Given the description of an element on the screen output the (x, y) to click on. 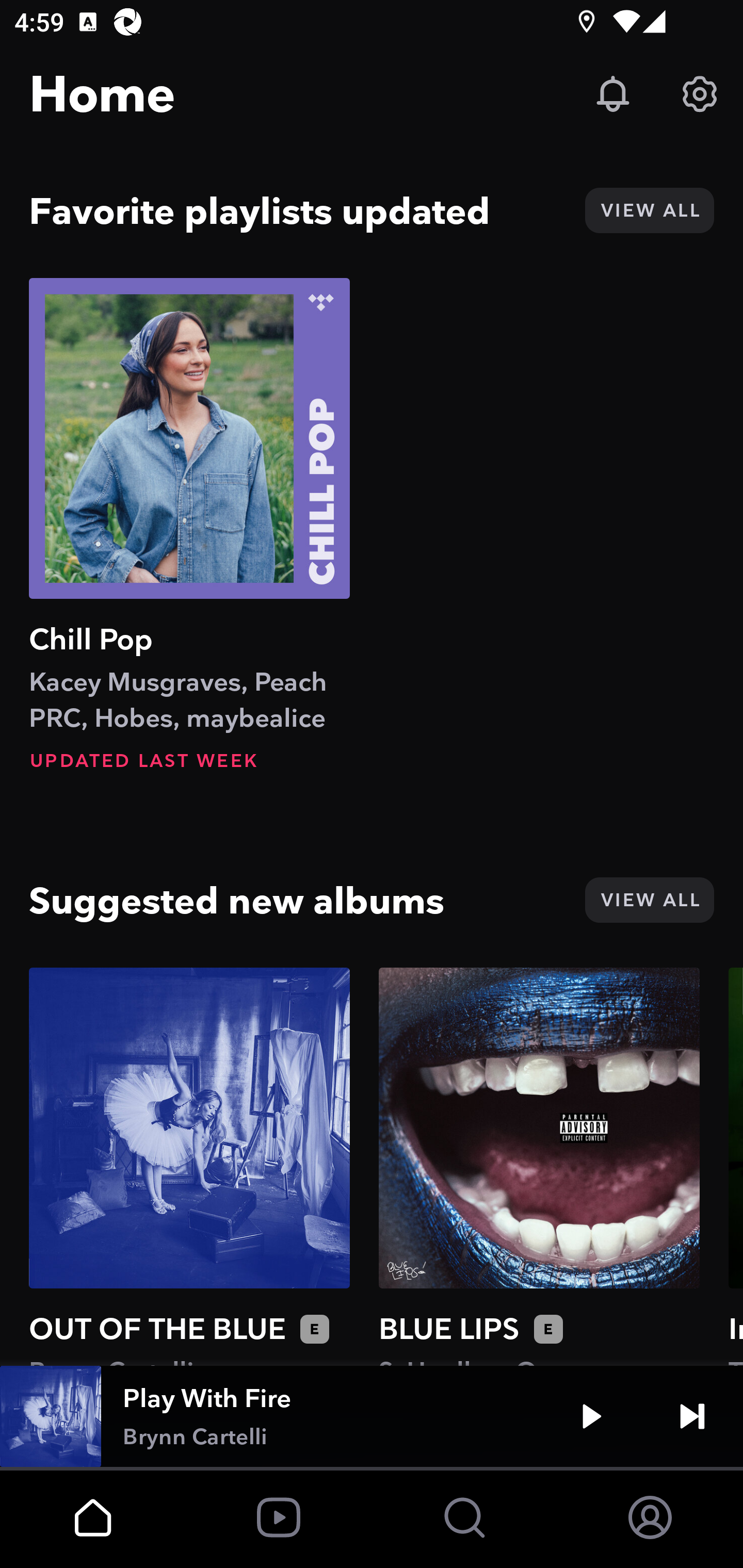
Updates (612, 93)
Settings (699, 93)
VIEW ALL (649, 210)
VIEW ALL (649, 899)
OUT OF THE BLUE Brynn Cartelli (188, 1166)
BLUE LIPS ScHoolboy Q (538, 1166)
Play With Fire Brynn Cartelli Play (371, 1416)
Play (590, 1416)
